Given the description of an element on the screen output the (x, y) to click on. 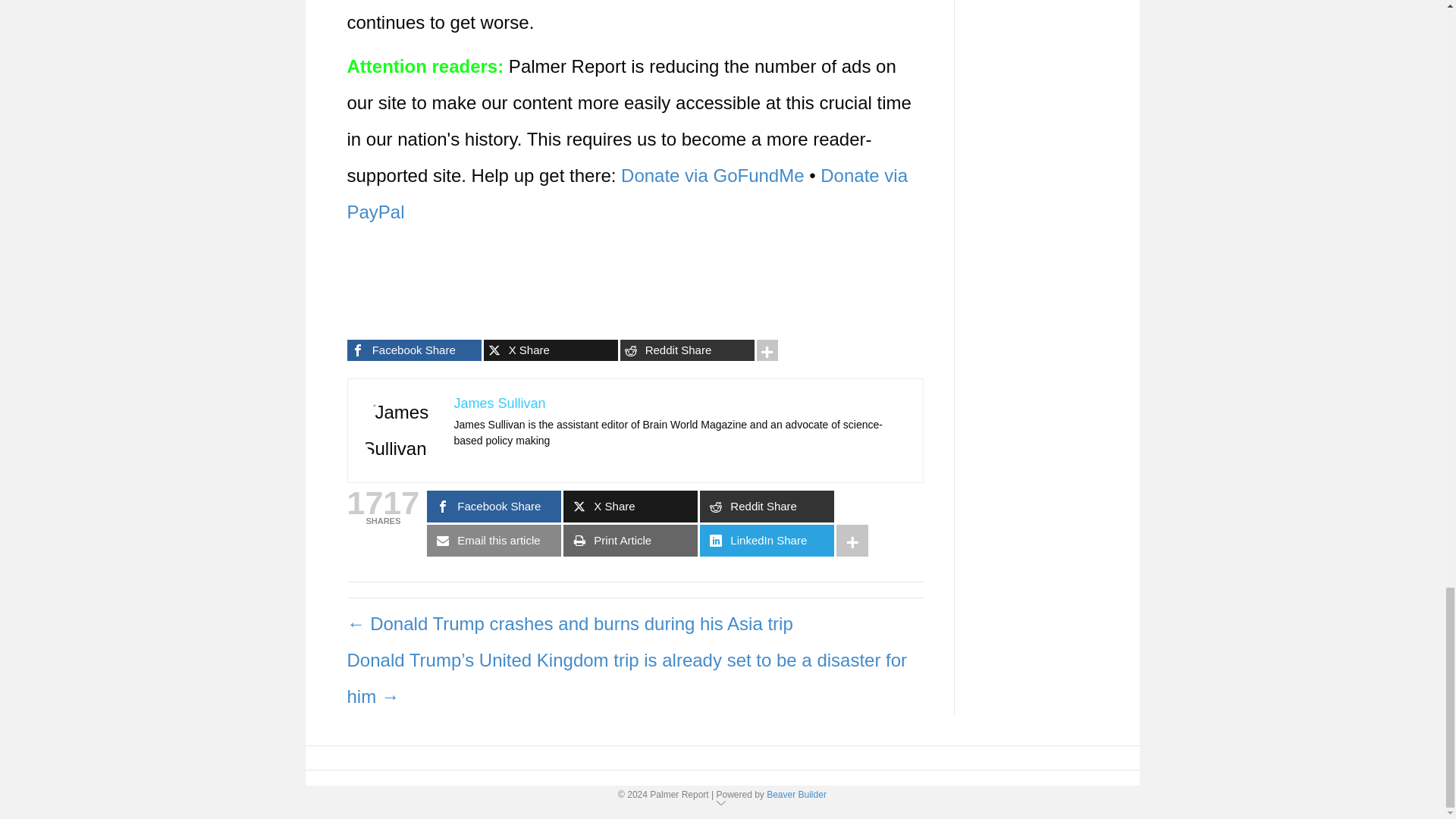
Donate via PayPal (627, 193)
Reddit Share (687, 350)
Donate via GoFundMe (712, 175)
Facebook Share (414, 350)
WordPress Page Builder Plugin (797, 794)
X Share (550, 350)
